Given the description of an element on the screen output the (x, y) to click on. 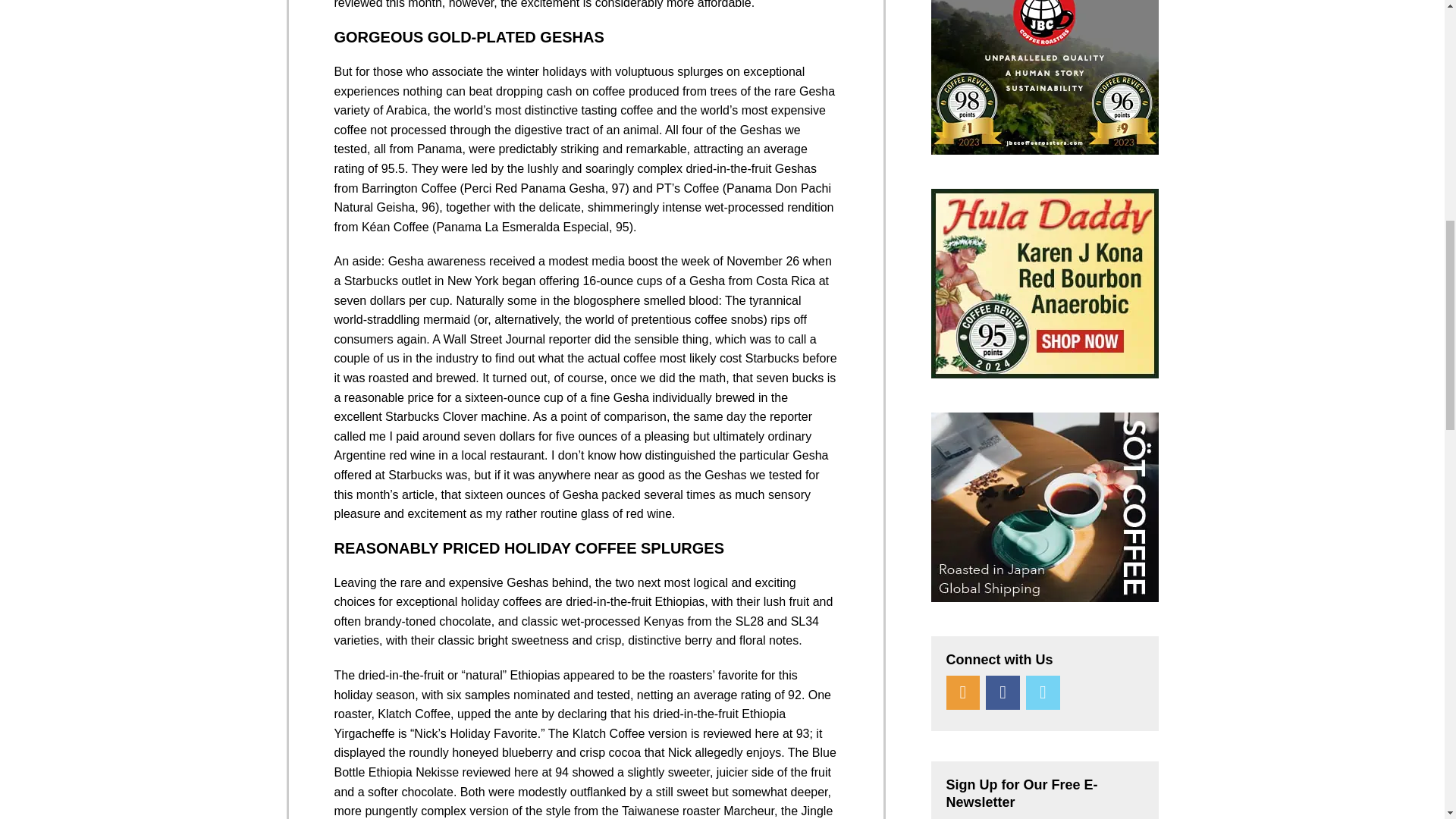
Twitter (1042, 692)
Facebook (1002, 692)
RSS (962, 692)
